Given the description of an element on the screen output the (x, y) to click on. 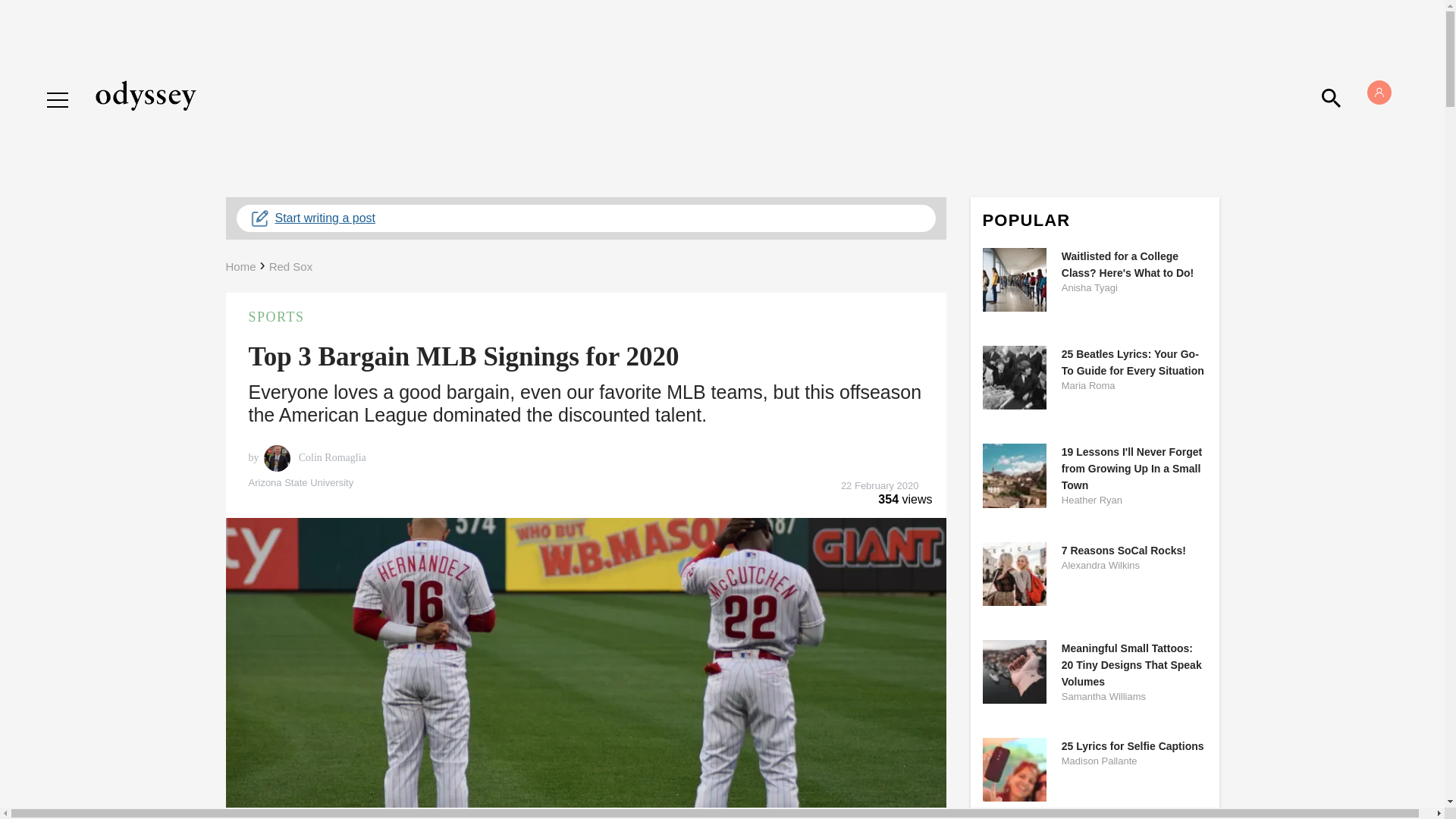
Home (240, 266)
Top 3 Bargain MLB Signings for 2020 (463, 356)
Colin Romaglia (330, 457)
SPORTS (585, 316)
Red Sox (291, 266)
Start writing a post (585, 217)
GO BACK (79, 85)
